Given the description of an element on the screen output the (x, y) to click on. 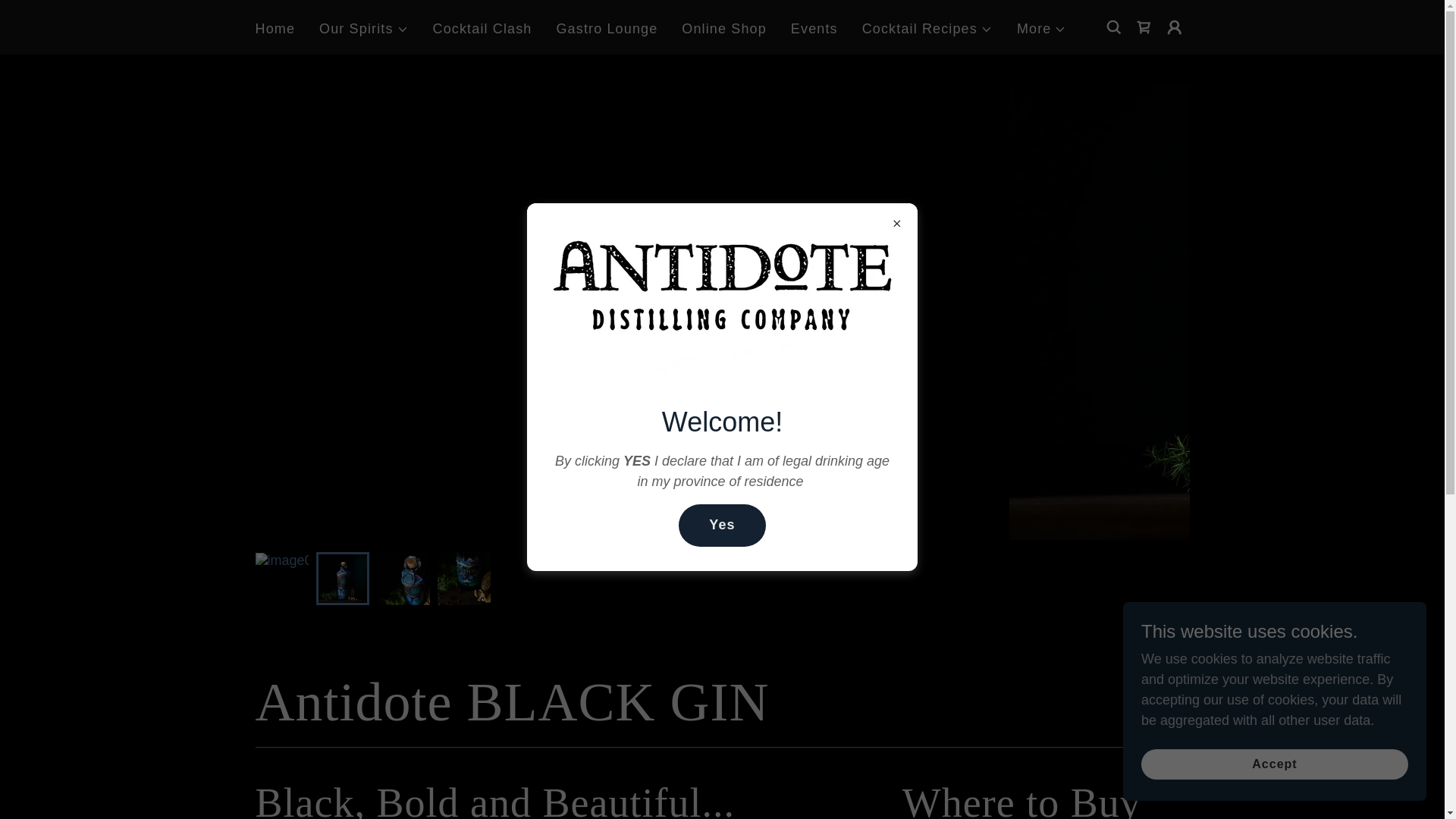
Cocktail Recipes (926, 28)
Gastro Lounge (606, 29)
Our Spirits (363, 28)
Home (274, 29)
Cocktail Clash (482, 29)
Events (814, 29)
More (1041, 28)
Online Shop (724, 29)
